Given the description of an element on the screen output the (x, y) to click on. 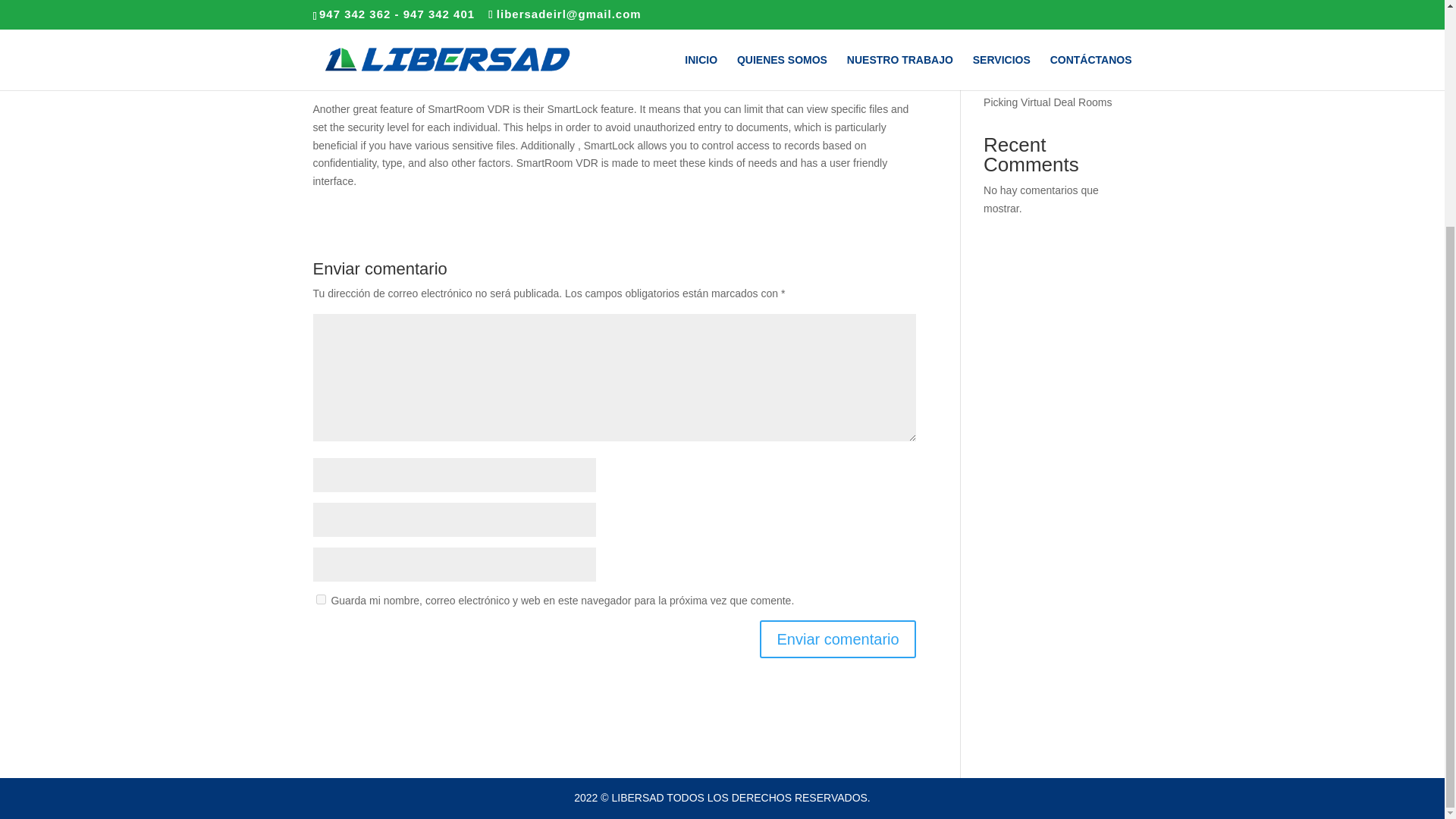
Enviar comentario (837, 638)
Picking Virtual Deal Rooms (1048, 102)
Tips on how to Write a Info Blog (1046, 12)
yes (319, 599)
Enviar comentario (837, 638)
